Given the description of an element on the screen output the (x, y) to click on. 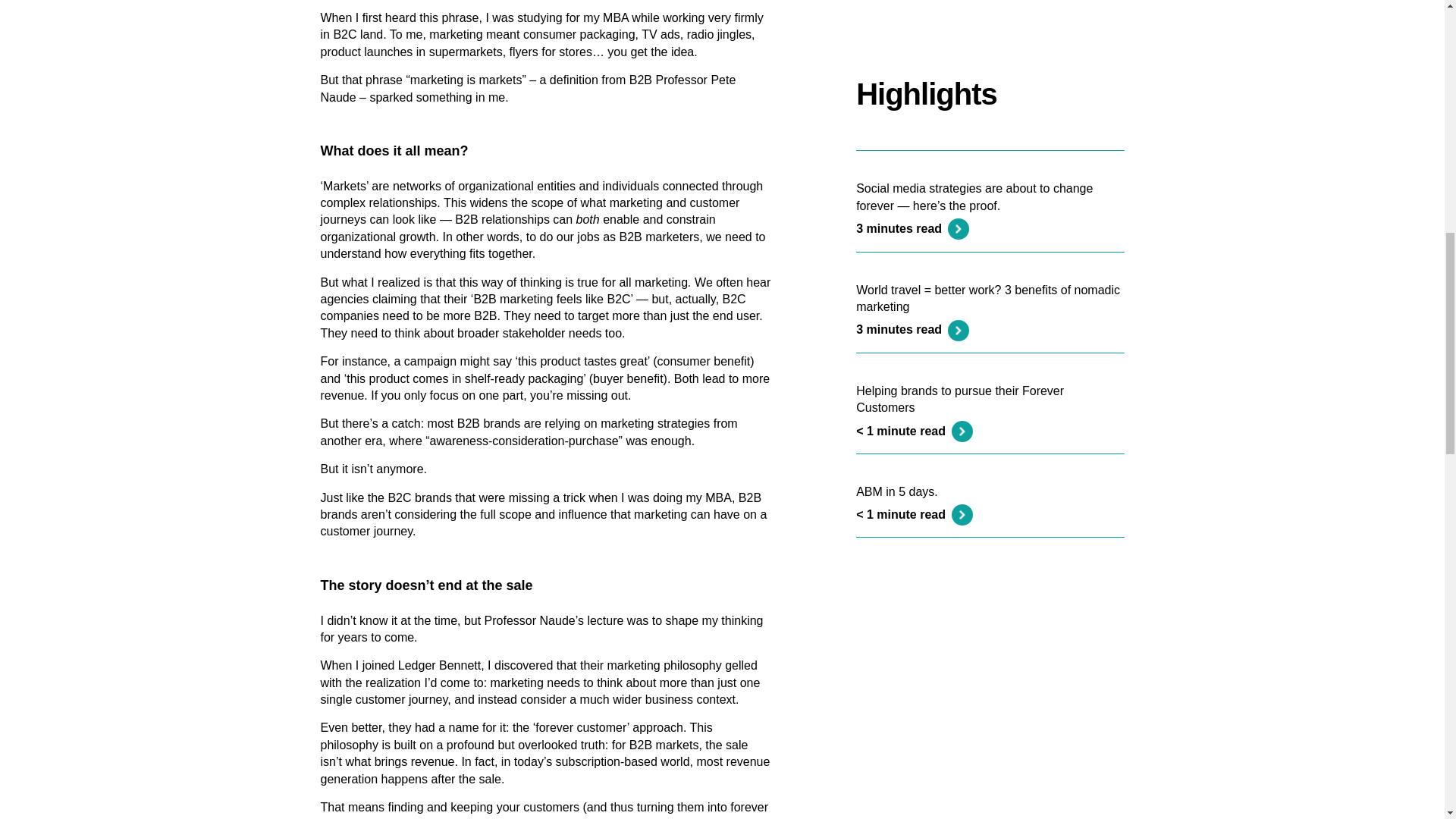
3 minutes read (901, 71)
3 minutes read (901, 172)
Helping brands to pursue their Forever Customers (960, 242)
ABM in 5 days. (896, 334)
